Given the description of an element on the screen output the (x, y) to click on. 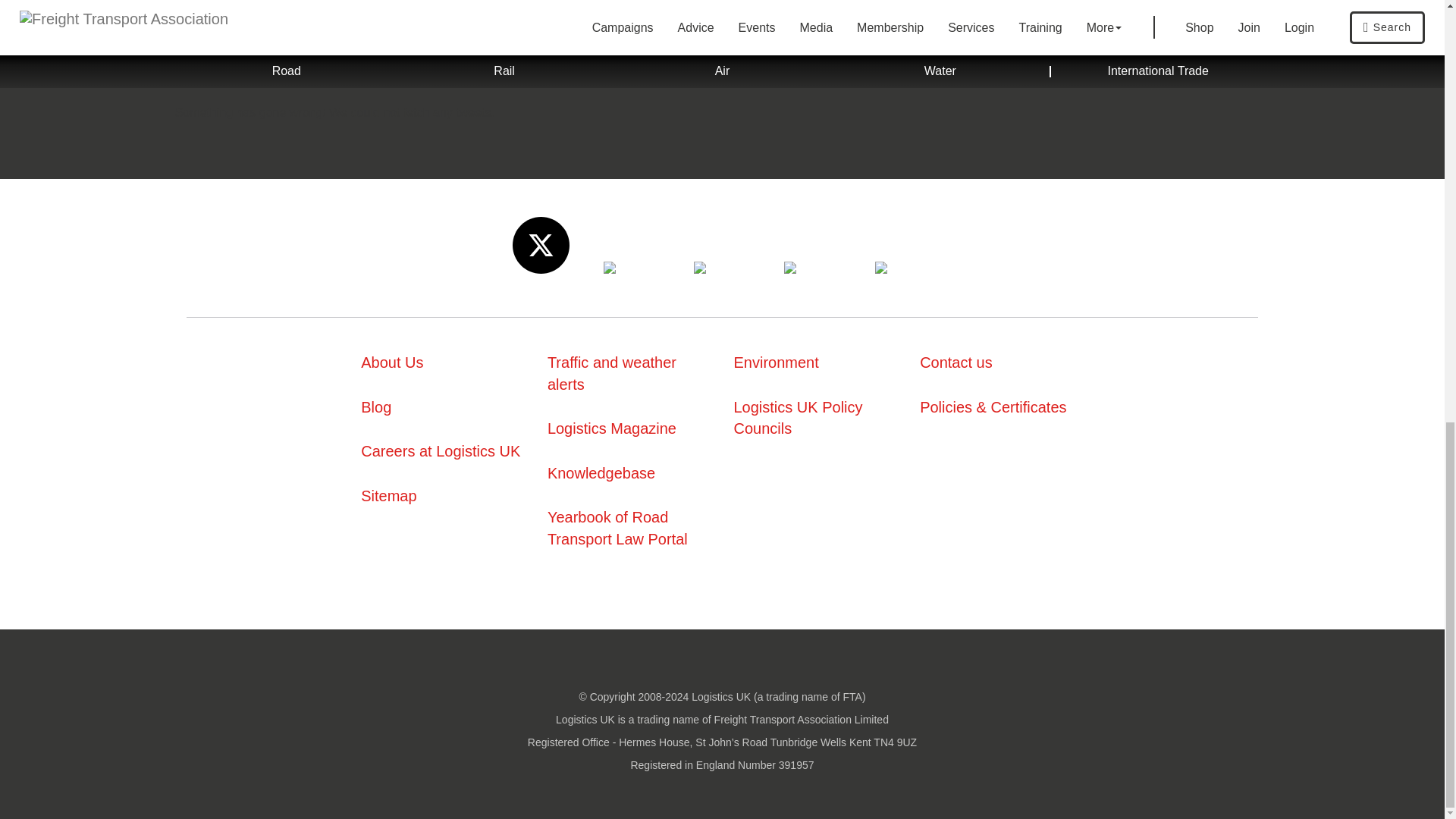
About Us (392, 362)
